Given the description of an element on the screen output the (x, y) to click on. 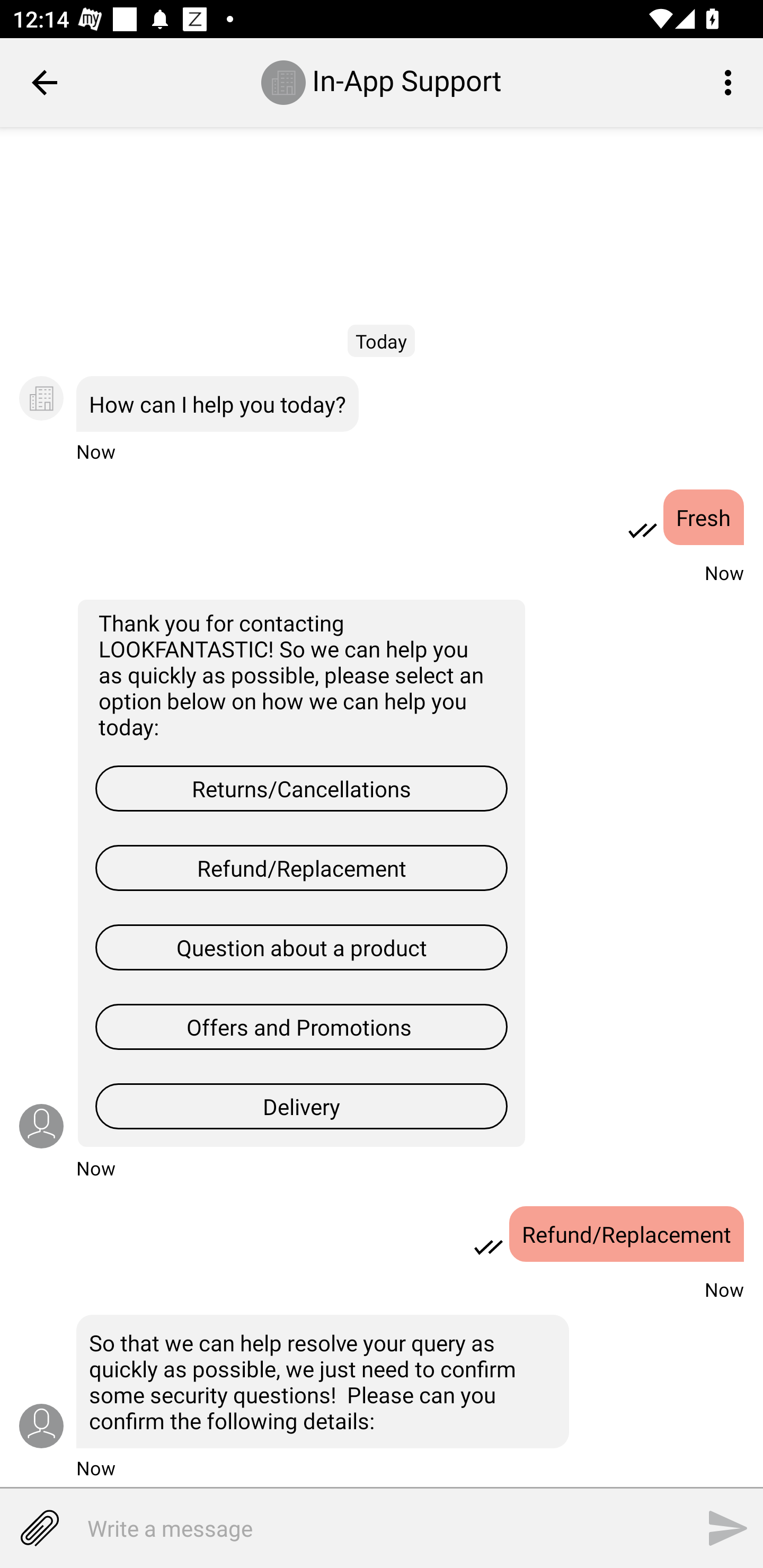
Navigate up (44, 82)
More options (731, 81)
You: Fresh, , Now Read Fresh Now (381, 530)
Fresh (703, 517)
Refund/Replacement, Button Refund/Replacement (301, 867)
Delivery, Button Delivery (301, 1105)
Refund/Replacement (625, 1233)
Attachment menu button collapsed (39, 1528)
SEND (727, 1528)
Write a message (357, 1527)
